Given the description of an element on the screen output the (x, y) to click on. 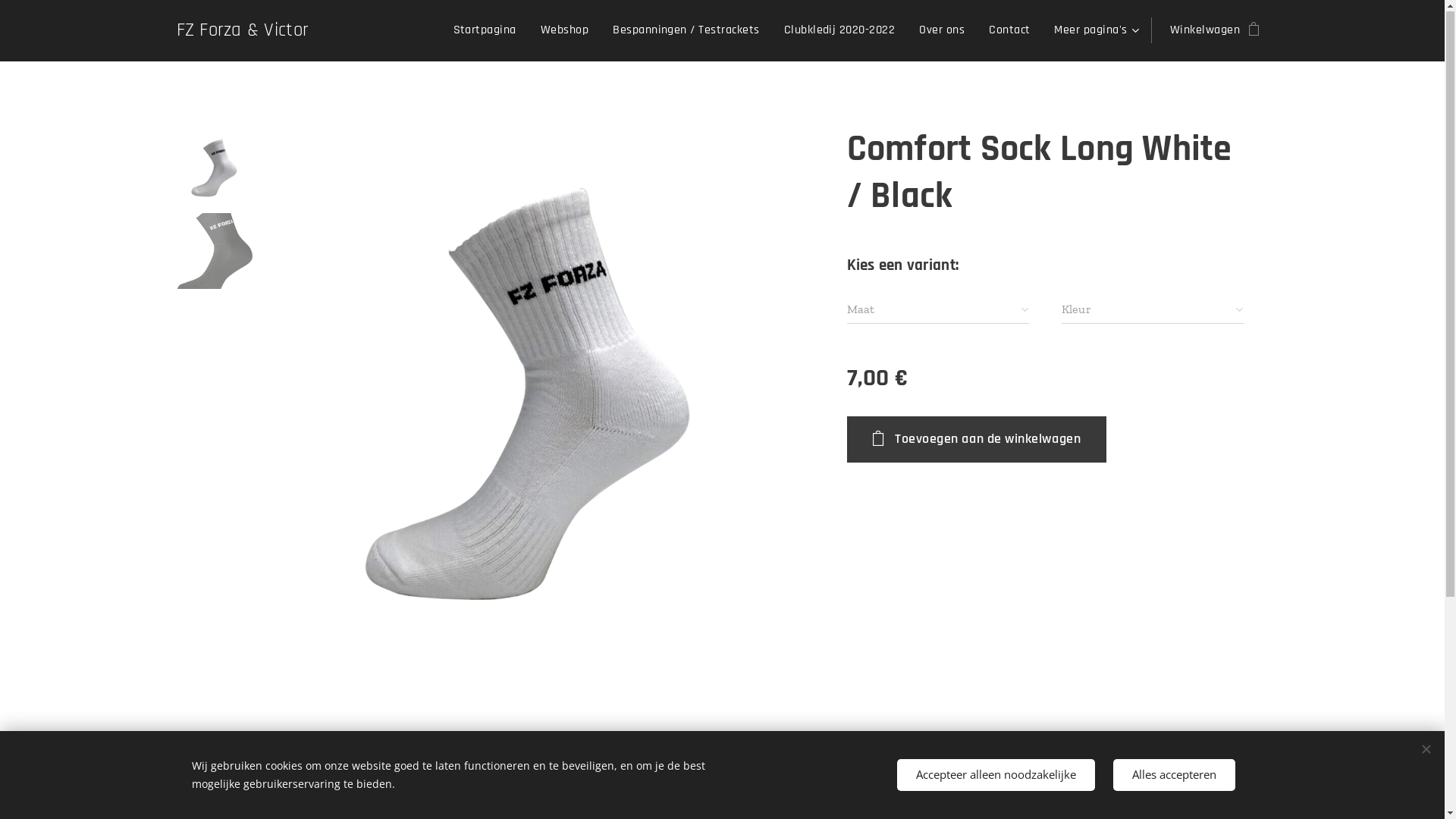
Contact Element type: text (1008, 31)
Startpagina Element type: text (488, 31)
Toevoegen aan de winkelwagen Element type: text (976, 440)
FZ Forza & Victor Element type: text (242, 31)
Webshop Element type: text (564, 31)
Over ons Element type: text (941, 31)
Clubkledij 2020-2022 Element type: text (839, 31)
Bespanningen / Testrackets Element type: text (685, 31)
Meer pagina's Element type: text (1093, 31)
Accepteer alleen noodzakelijke Element type: text (995, 774)
Alles accepteren Element type: text (1174, 774)
Winkelwagen Element type: text (1209, 31)
